Given the description of an element on the screen output the (x, y) to click on. 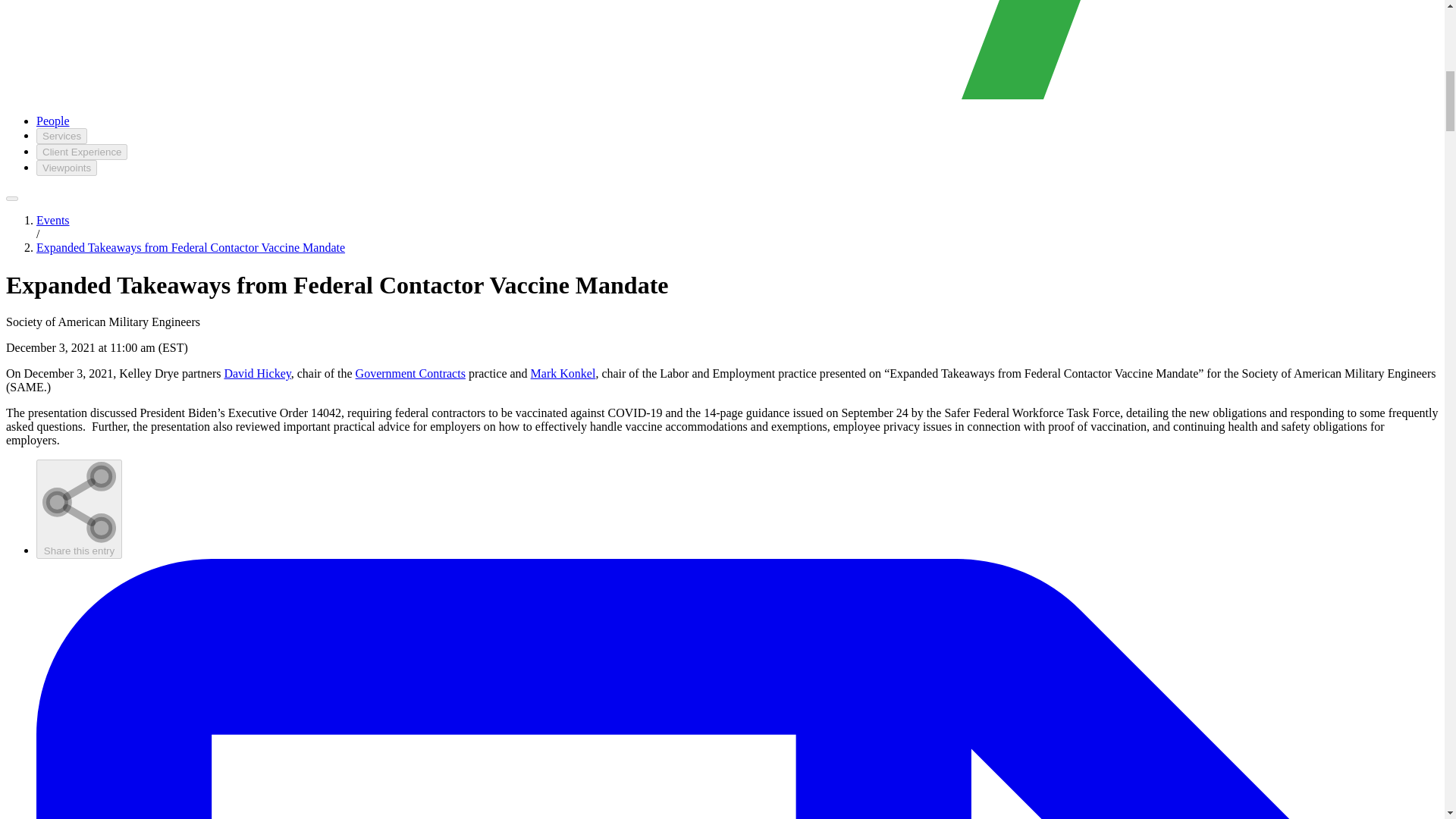
Services (61, 135)
People (52, 120)
